Given the description of an element on the screen output the (x, y) to click on. 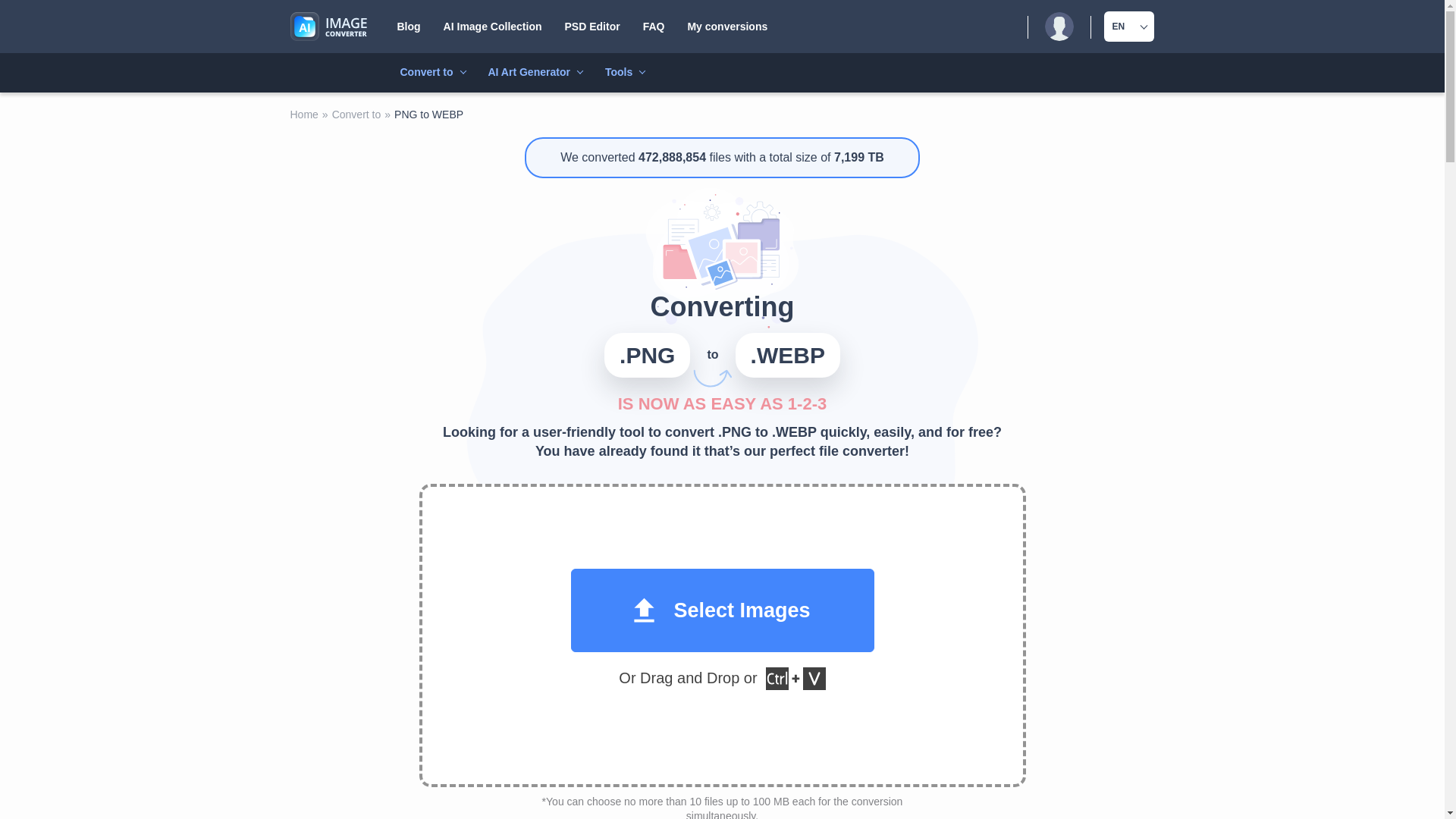
PNG to WEBP (325, 9)
My conversions (727, 26)
FAQ (654, 26)
Home (327, 26)
AI Image Collection (492, 26)
PSD Editor (592, 26)
Blog (408, 26)
